Given the description of an element on the screen output the (x, y) to click on. 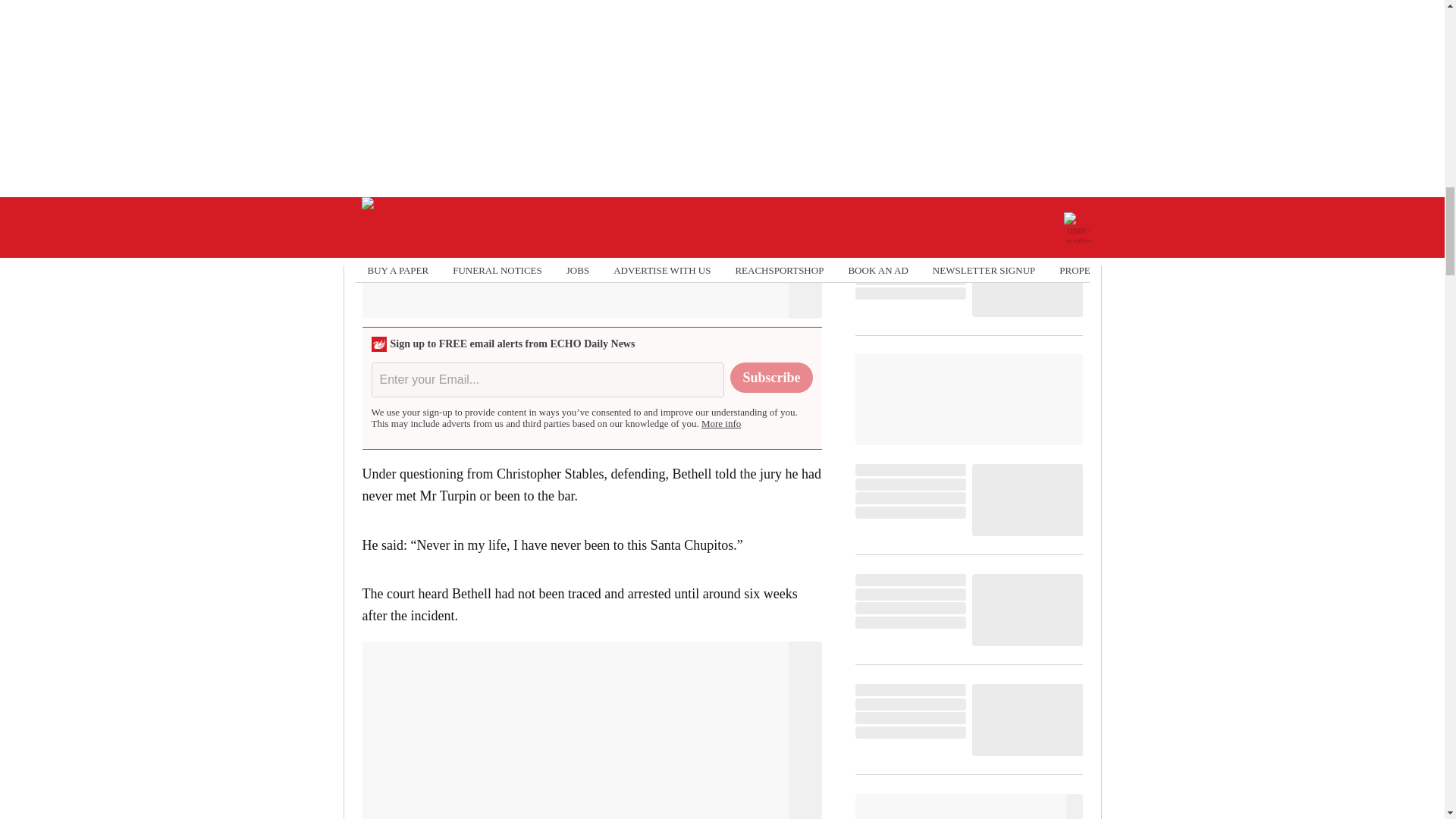
Subscribe (771, 377)
More info (721, 423)
Speke (645, 41)
